Given the description of an element on the screen output the (x, y) to click on. 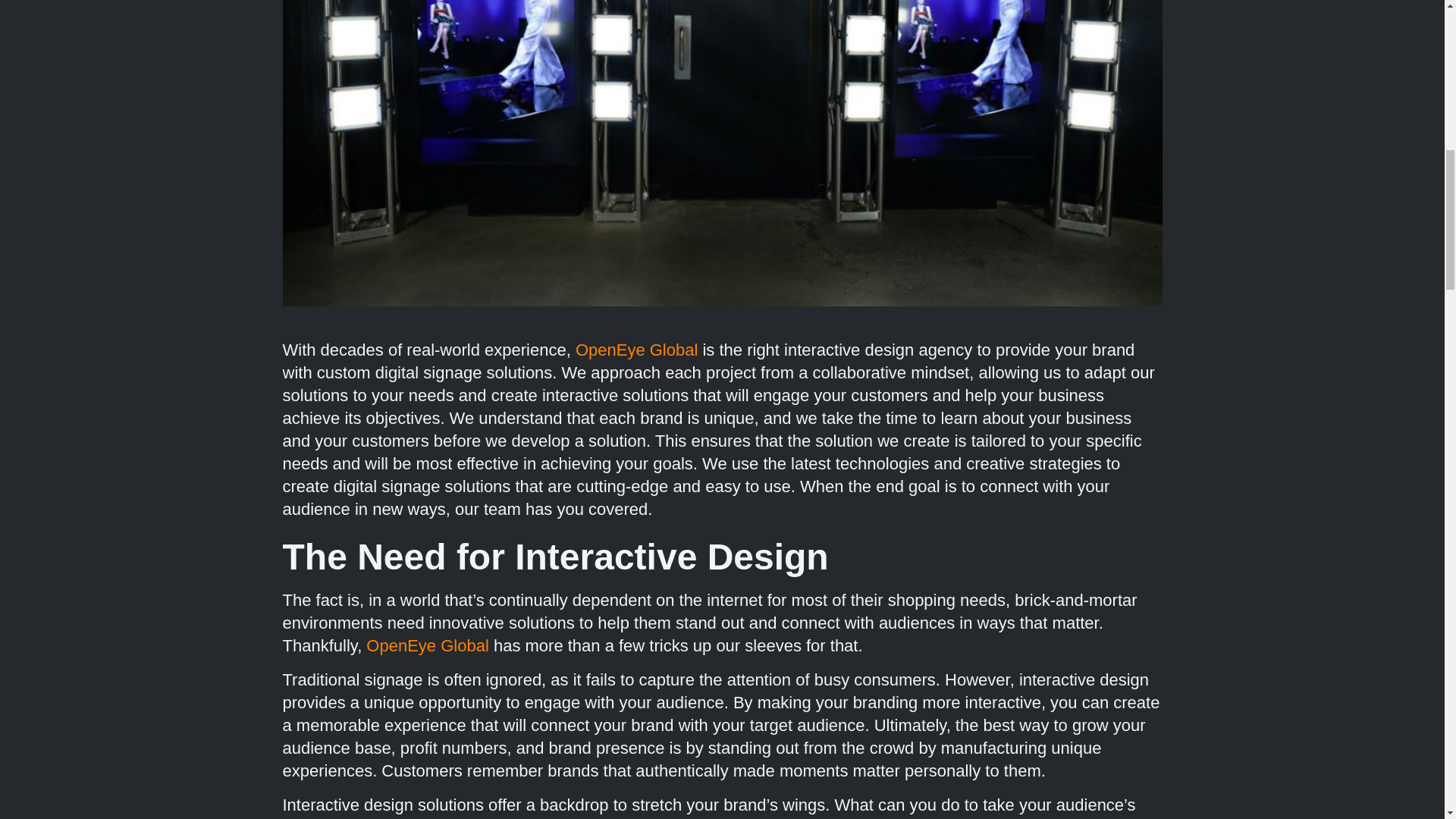
Kravet (561, 818)
OpenEye Global (636, 349)
OpenEye Global (426, 645)
